Given the description of an element on the screen output the (x, y) to click on. 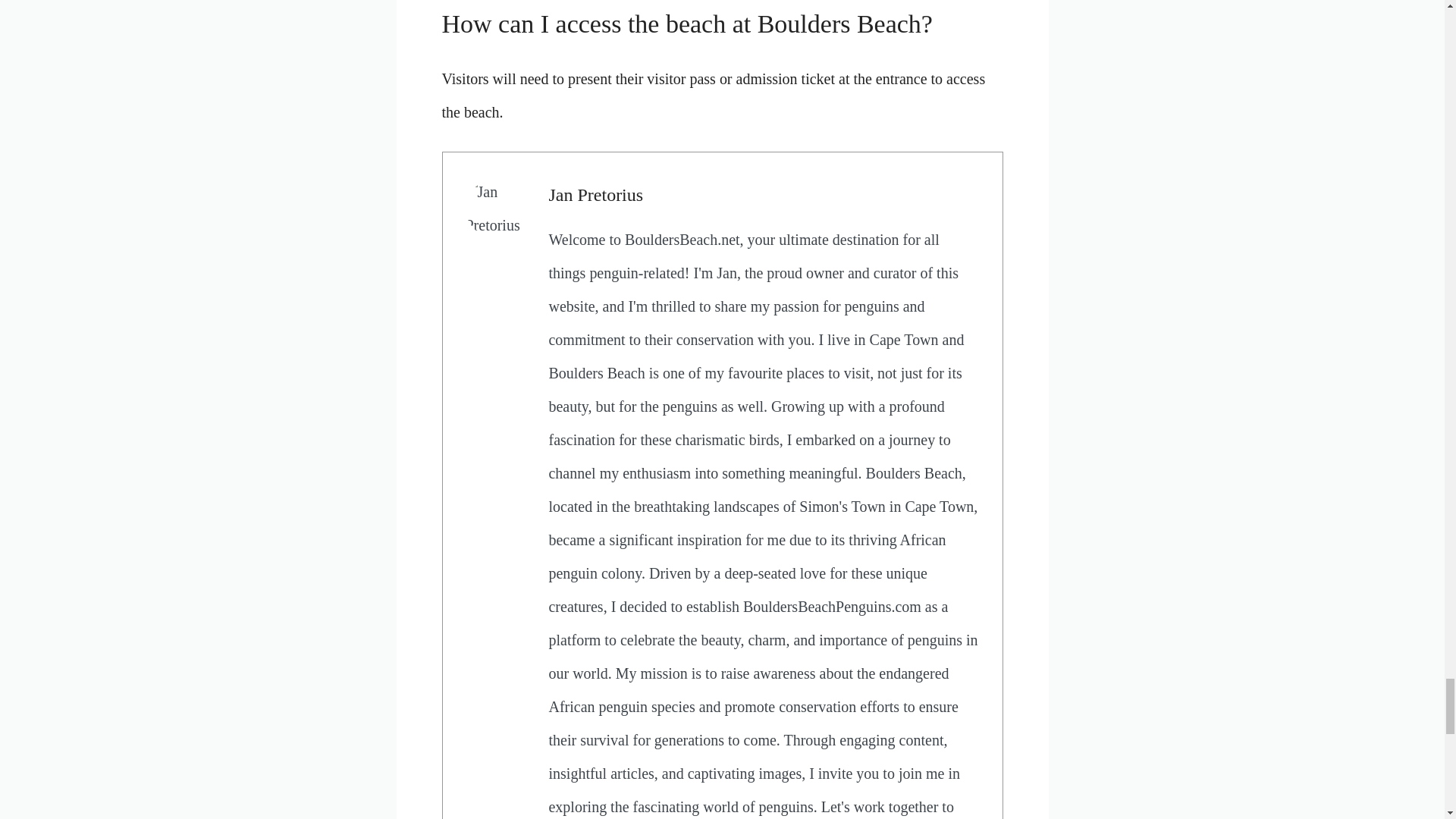
Jan Pretorius (595, 194)
Jan Pretorius (595, 194)
